Given the description of an element on the screen output the (x, y) to click on. 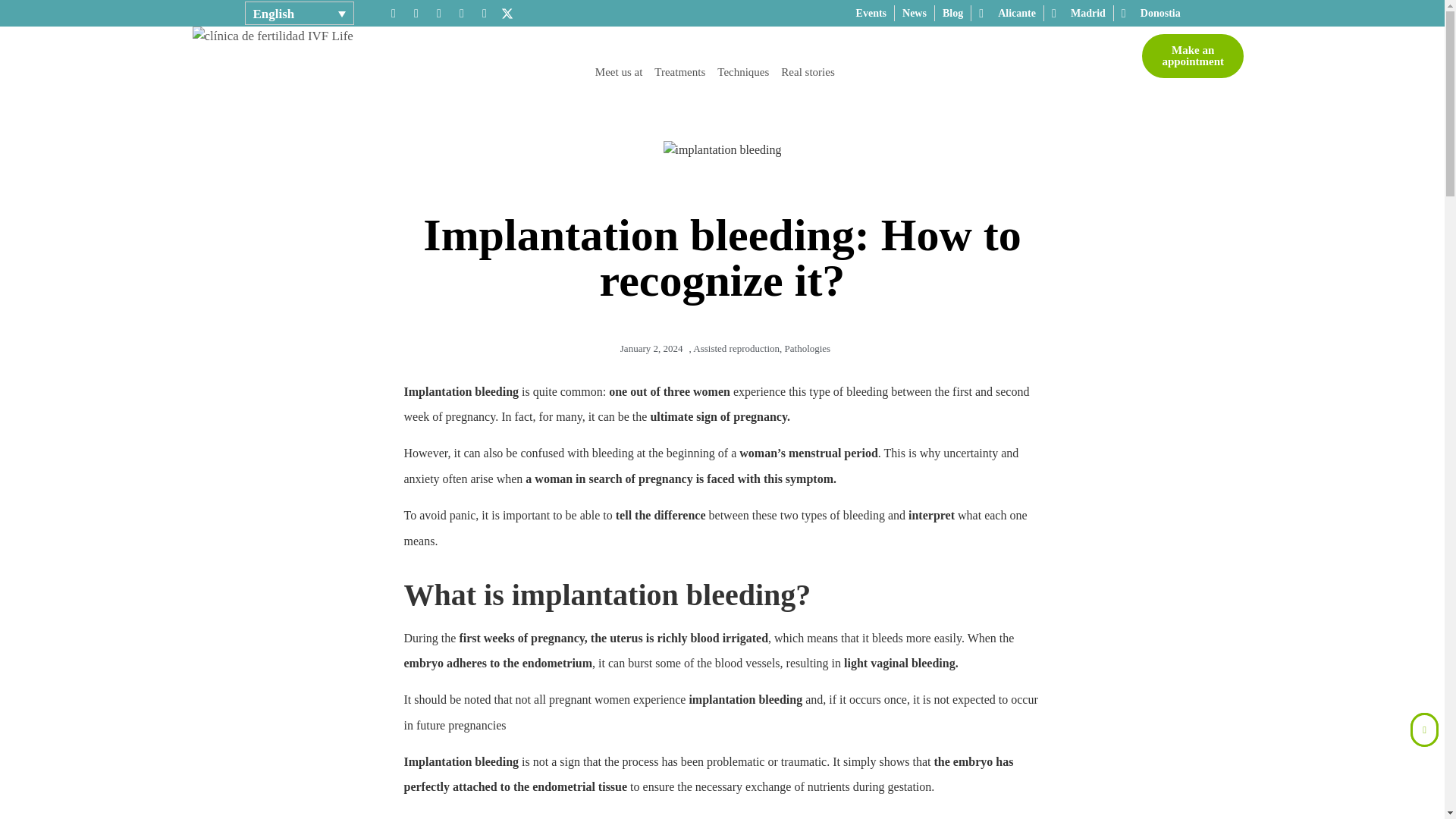
Alicante (1006, 12)
Donostia (1150, 12)
Blog (952, 12)
English (298, 13)
Meet us at (618, 71)
Treatments (678, 71)
Madrid (1078, 12)
Events (871, 12)
News (914, 12)
How reconized implantation bleeding (722, 149)
